Given the description of an element on the screen output the (x, y) to click on. 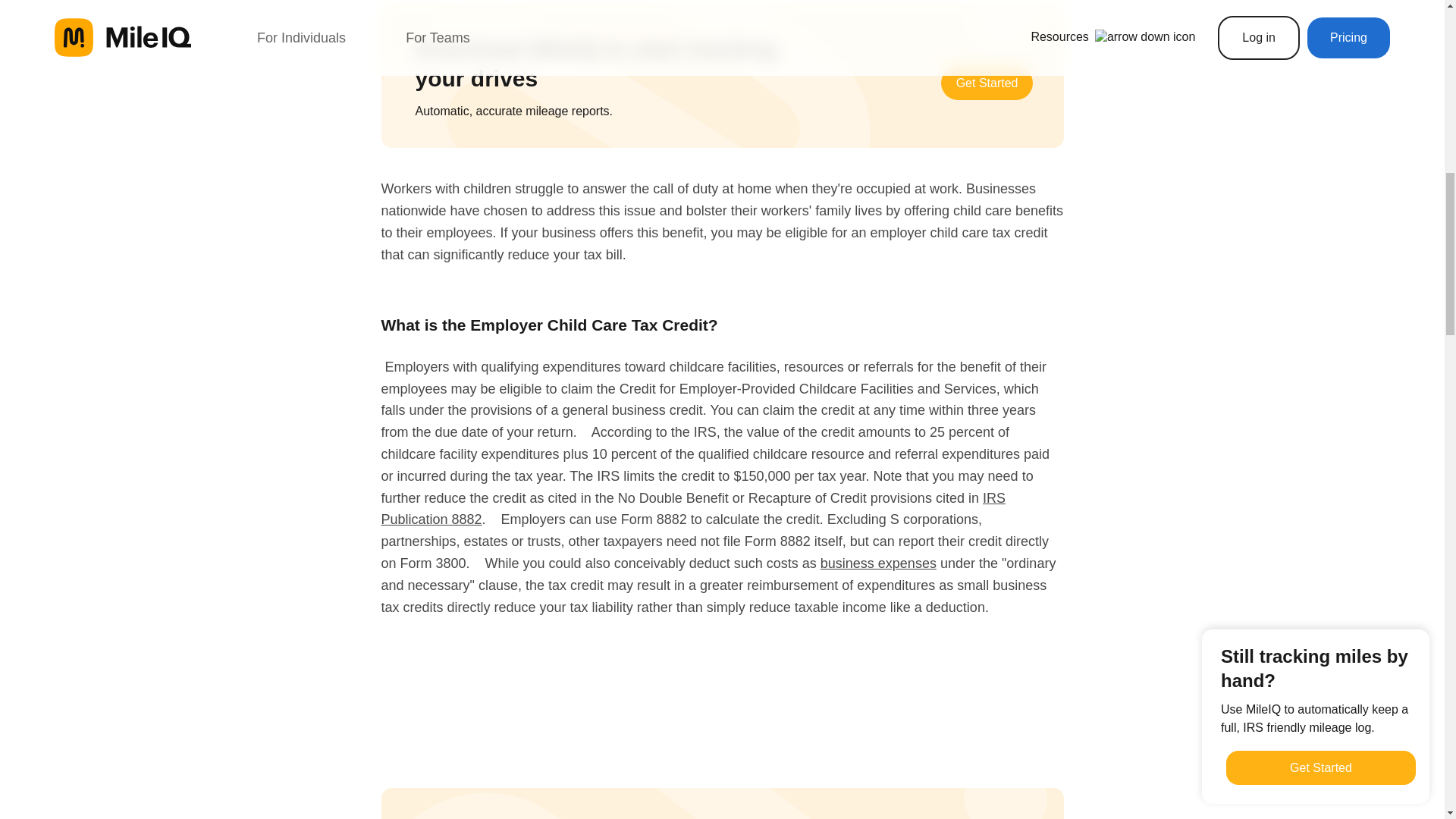
Get Started (986, 82)
business expenses (878, 563)
IRS Publication 8882 (692, 508)
